Given the description of an element on the screen output the (x, y) to click on. 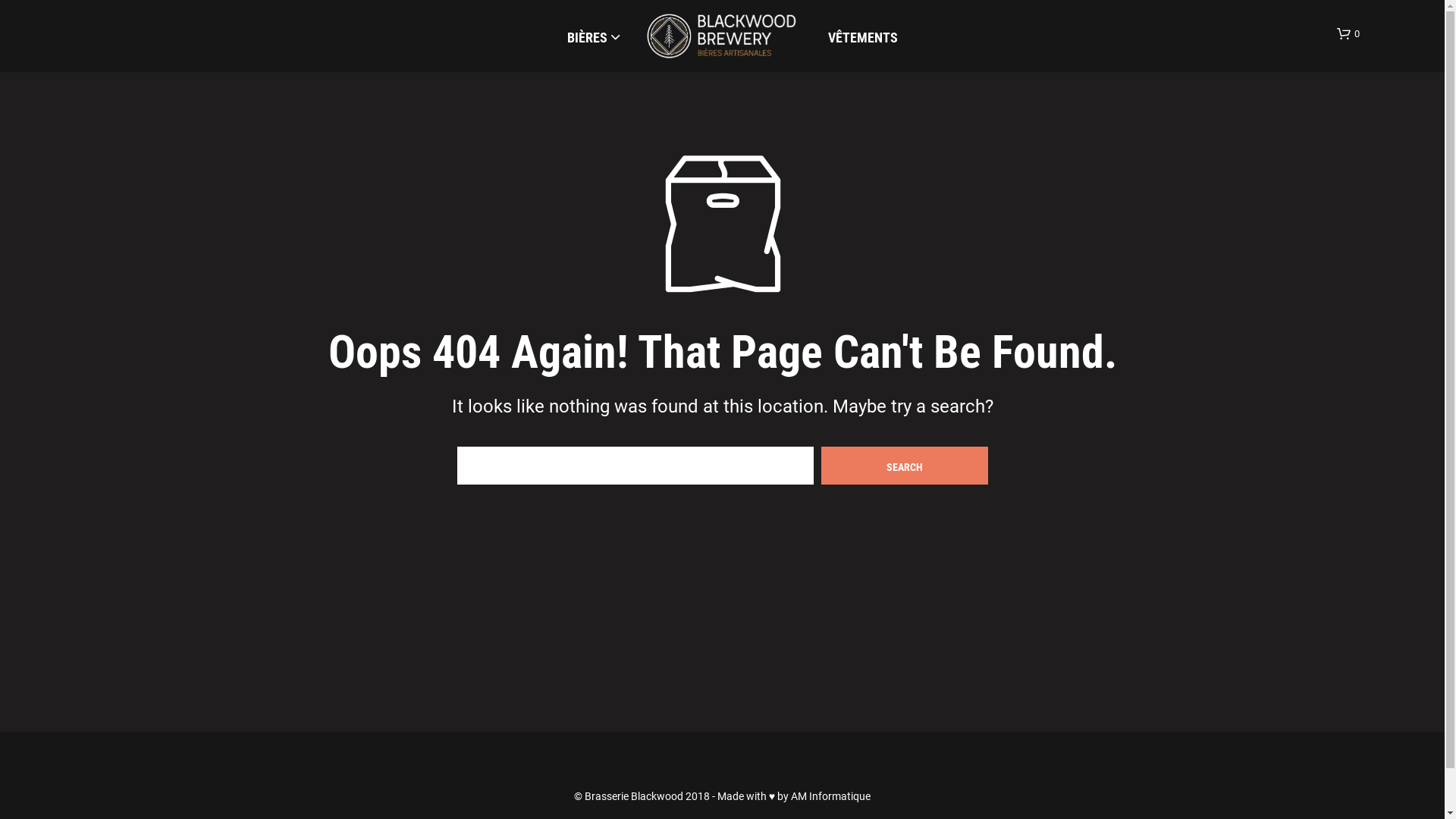
Search Element type: text (903, 465)
0 Element type: text (1347, 33)
